Given the description of an element on the screen output the (x, y) to click on. 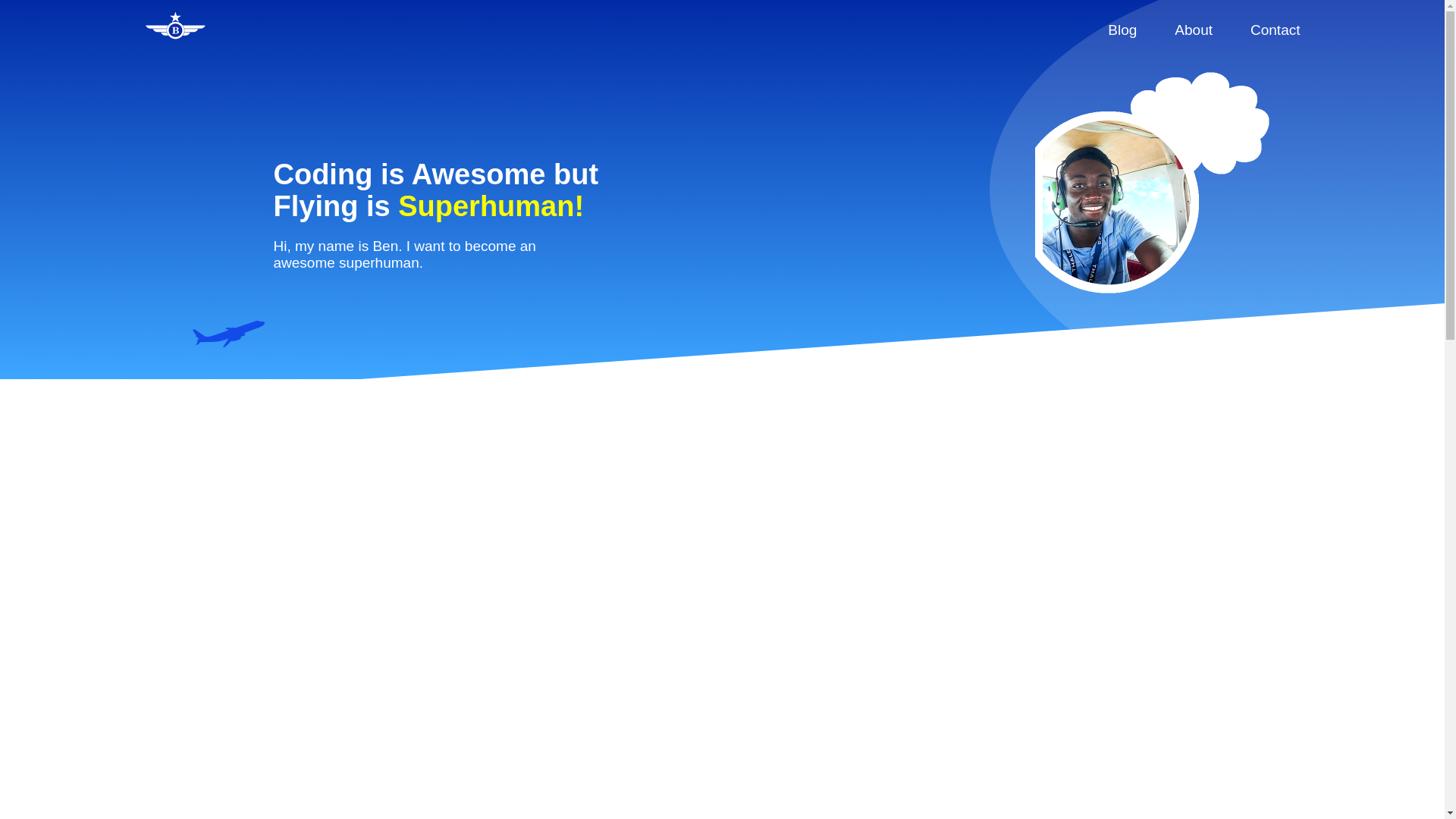
About (1193, 31)
Contact (1275, 31)
Blog (1122, 31)
